Given the description of an element on the screen output the (x, y) to click on. 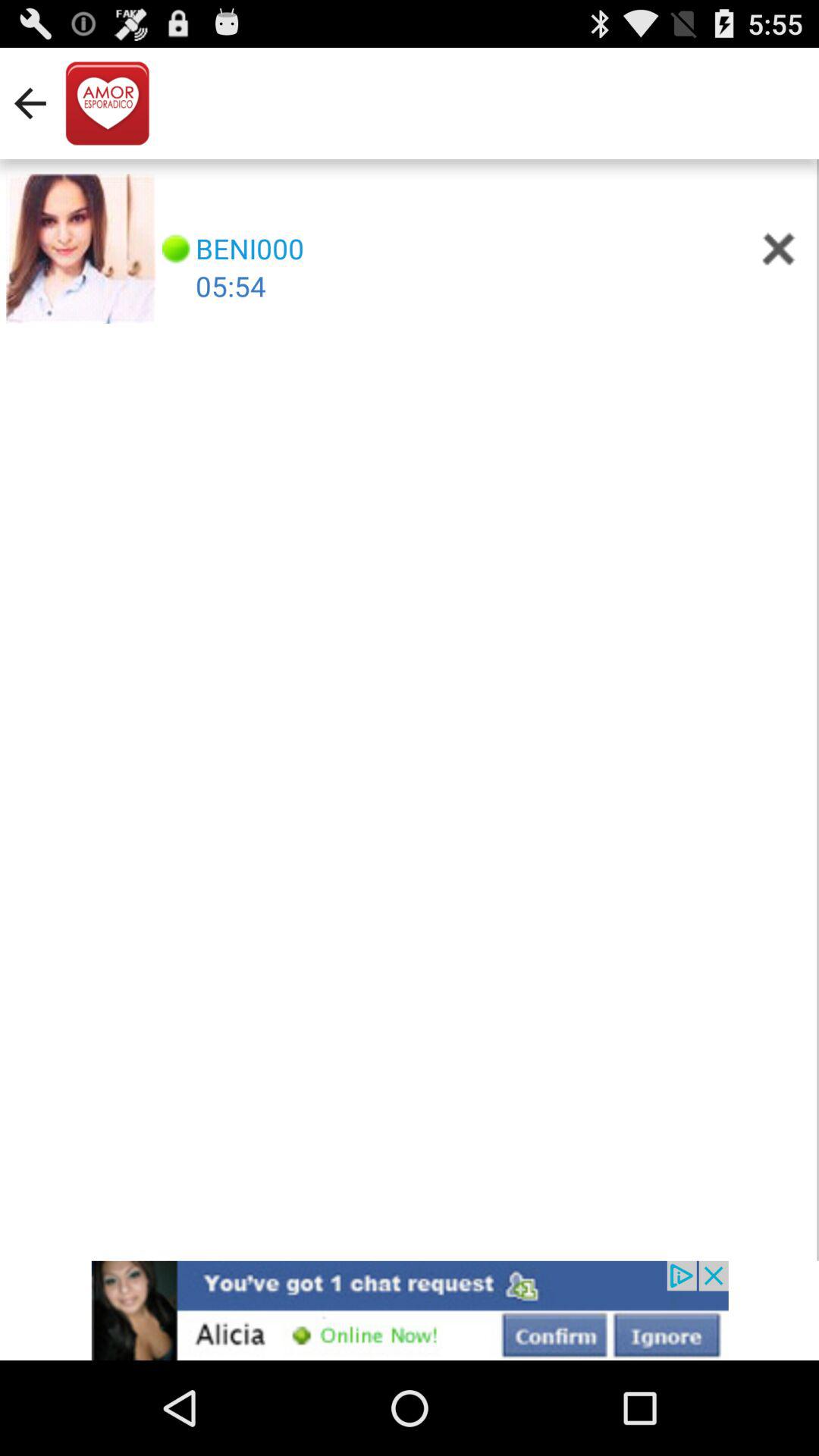
open advertisement (409, 1310)
